Given the description of an element on the screen output the (x, y) to click on. 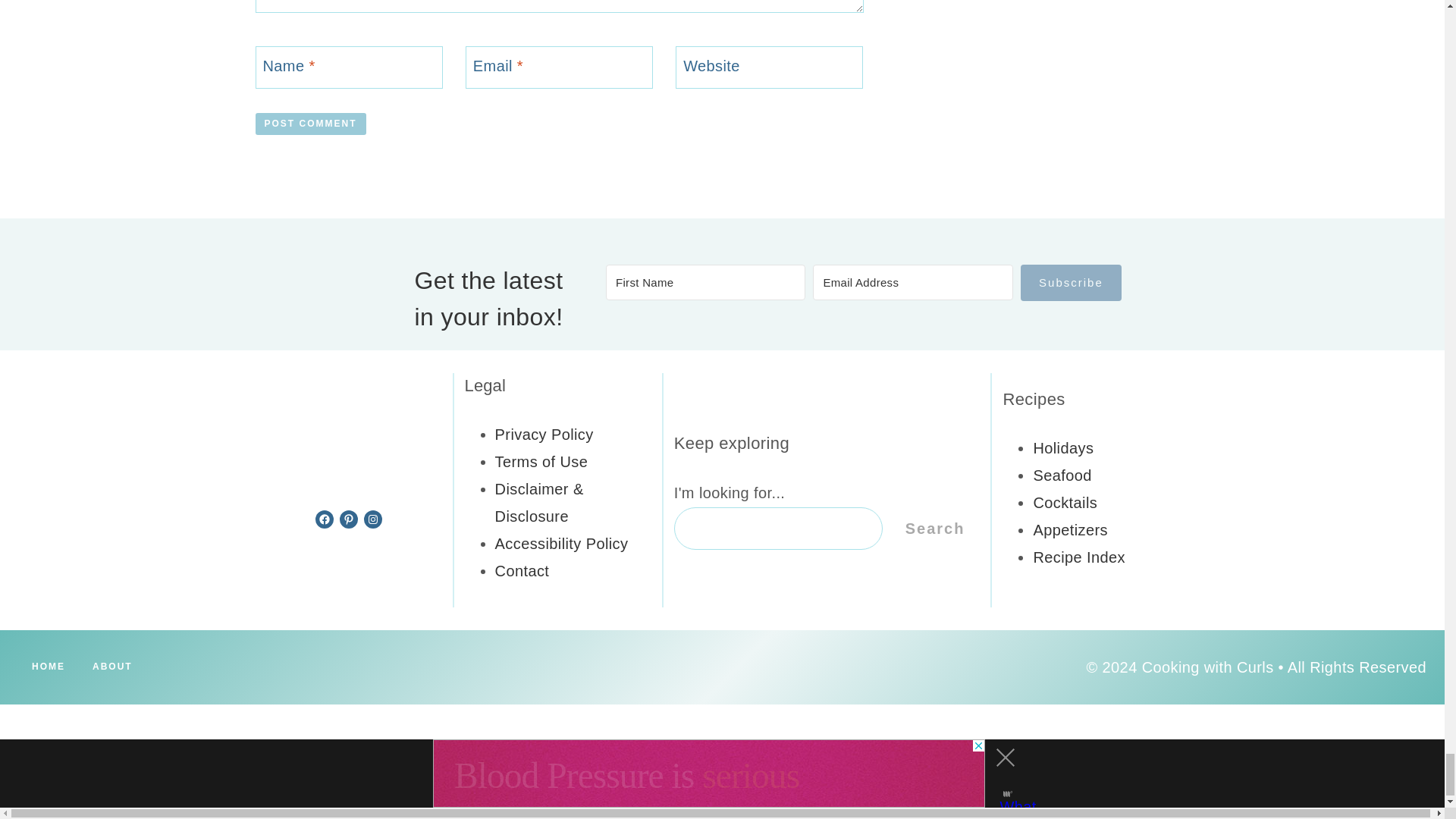
Post Comment (309, 124)
